Given the description of an element on the screen output the (x, y) to click on. 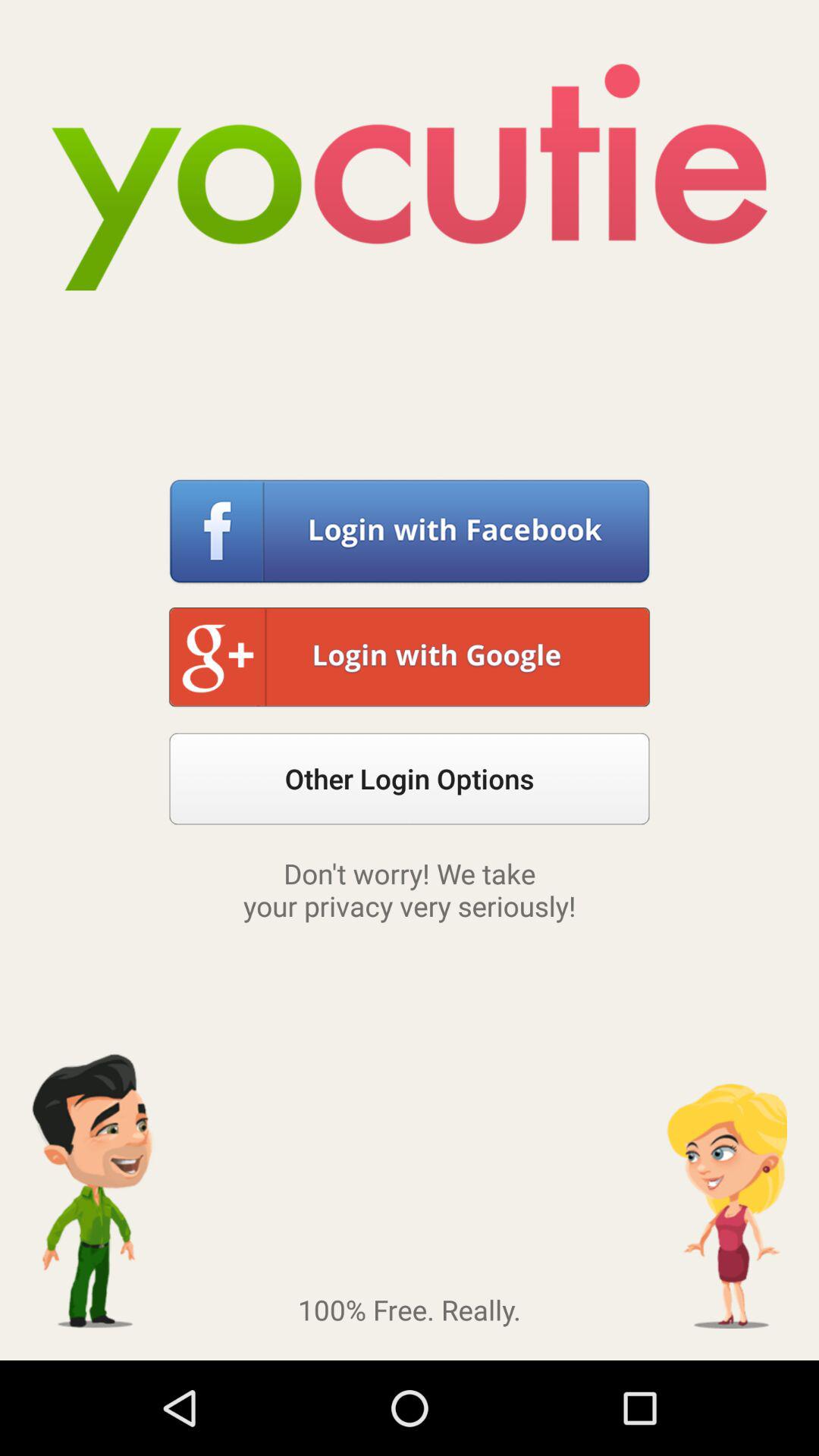
tap icon above the don t worry icon (409, 778)
